Given the description of an element on the screen output the (x, y) to click on. 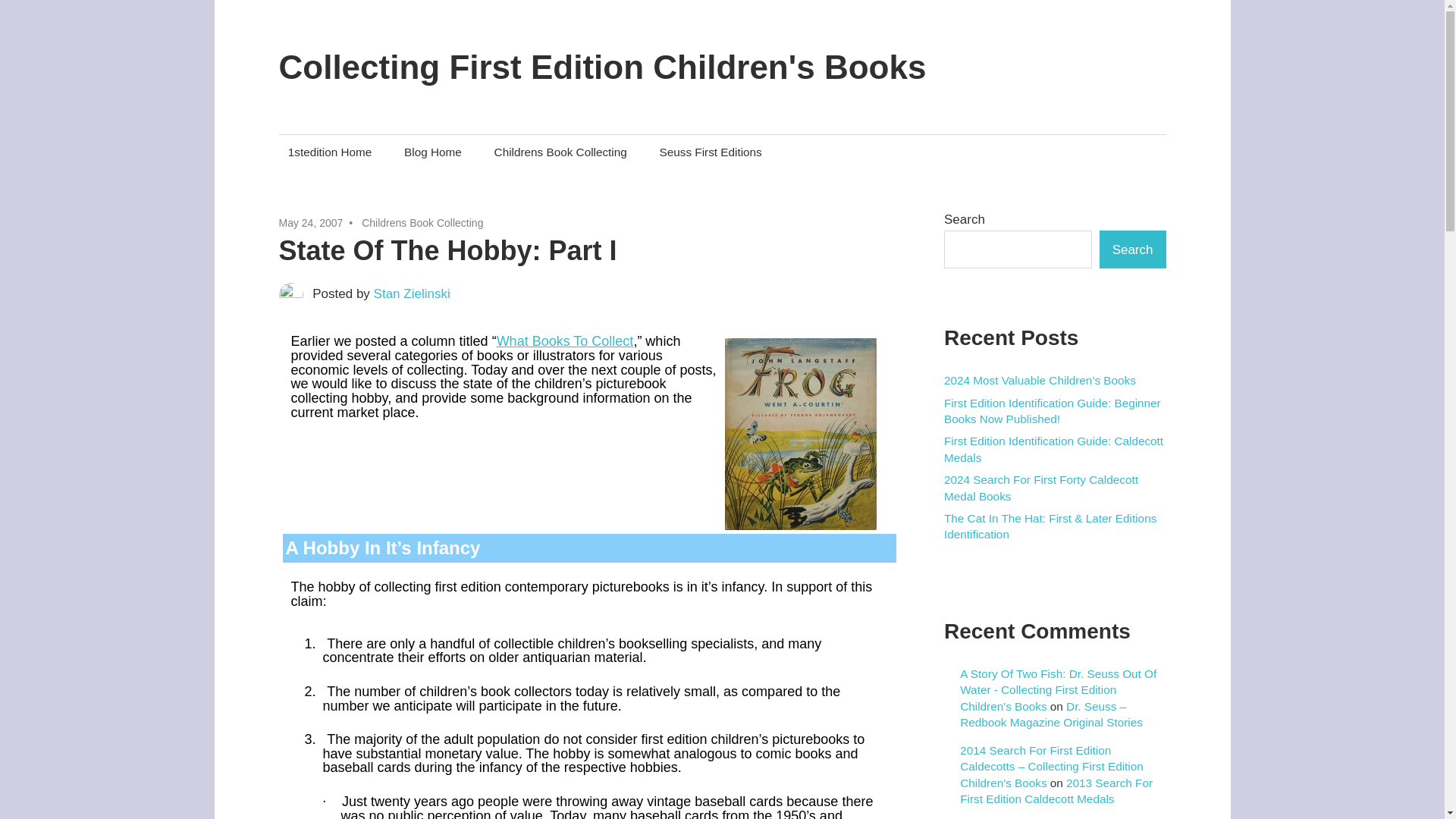
Stan Zielinski (411, 293)
First Edition Identification Guide: Caldecott Medals (1053, 448)
Childrens Book Collecting (560, 151)
Blog Home (432, 151)
3:44 pm (311, 223)
2024 Search For First Forty Caldecott Medal Books (1040, 487)
View all posts by Stan Zielinski (411, 293)
May 24, 2007 (311, 223)
Search (1132, 249)
Childrens Book Collecting (422, 223)
What books to collect? (564, 340)
What Books To Collect (564, 340)
2013 Search For First Edition Caldecott Medals (1056, 790)
